Given the description of an element on the screen output the (x, y) to click on. 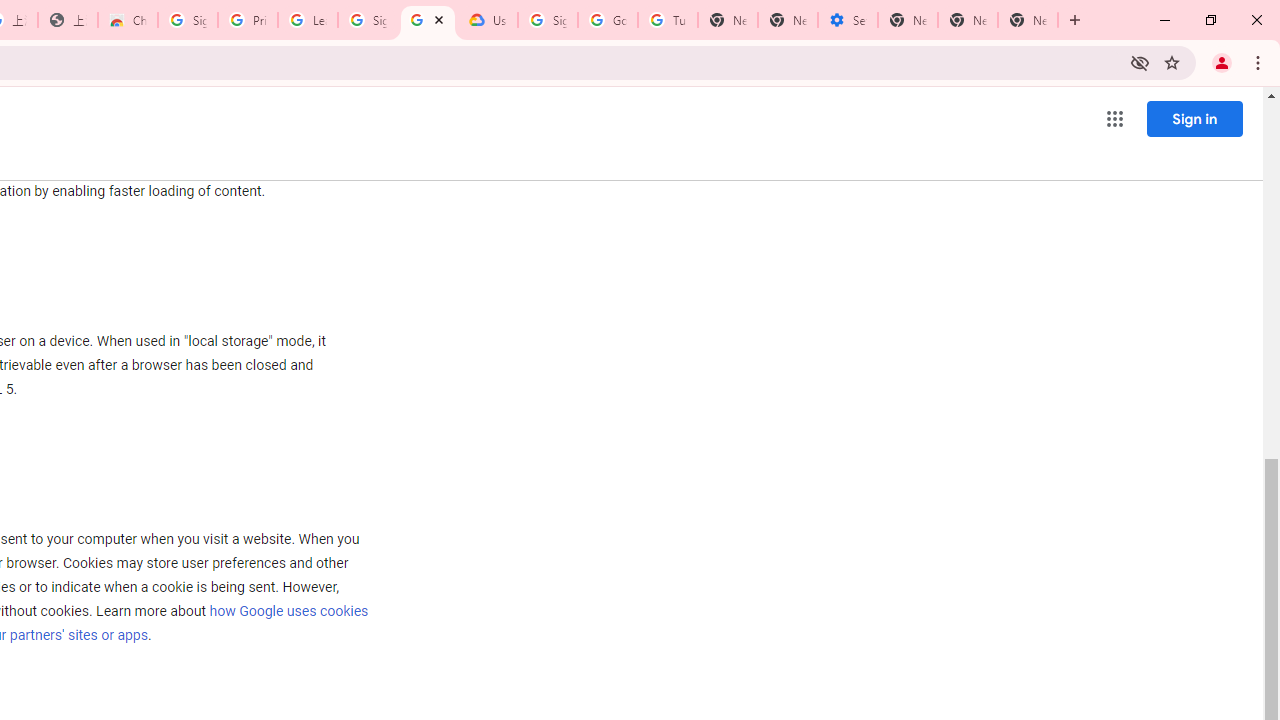
how Google uses cookies (288, 610)
Settings - Addresses and more (847, 20)
Sign in - Google Accounts (367, 20)
Sign in - Google Accounts (187, 20)
New Tab (1028, 20)
New Tab (908, 20)
